Given the description of an element on the screen output the (x, y) to click on. 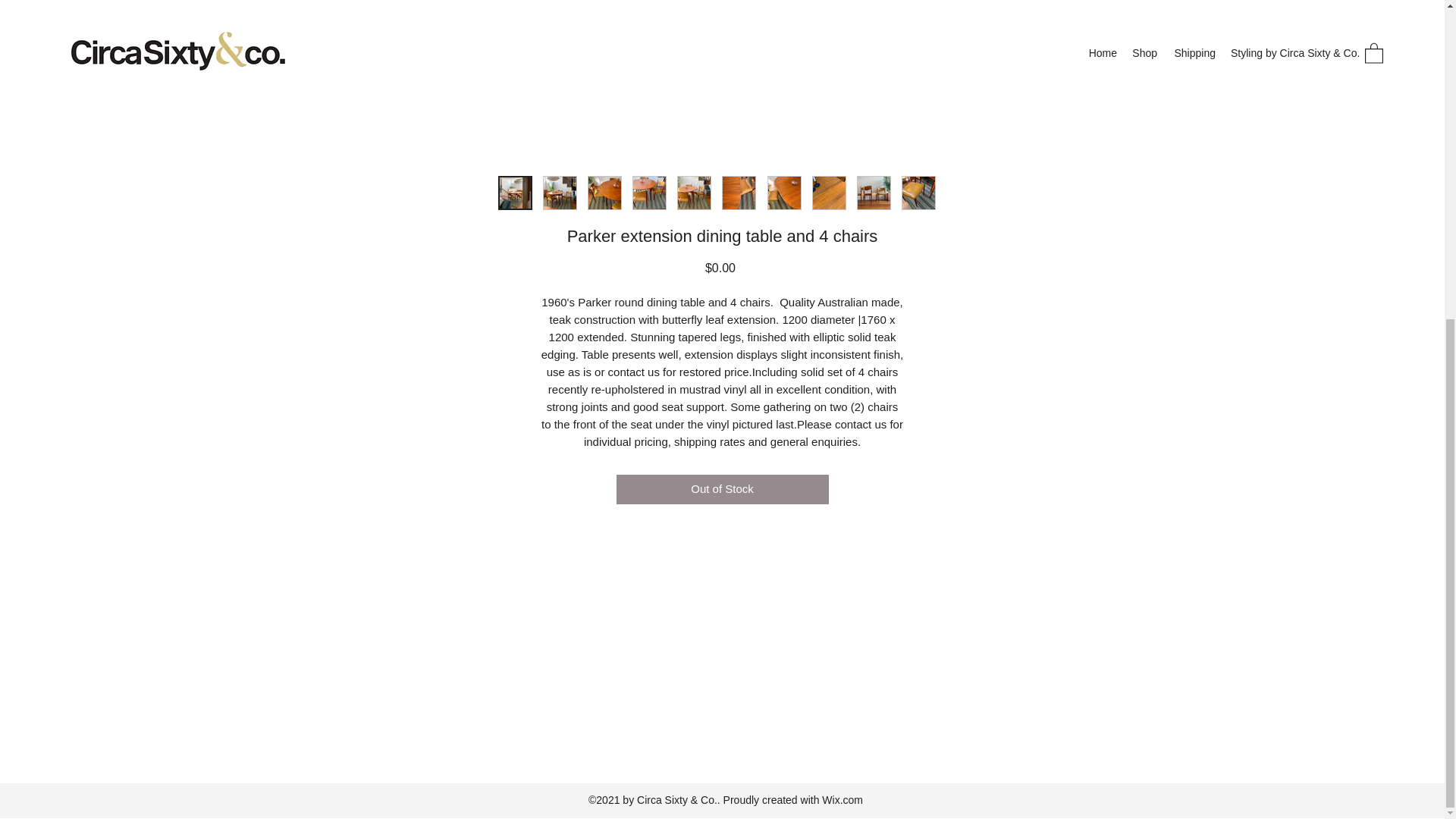
Out of Stock (721, 489)
